Given the description of an element on the screen output the (x, y) to click on. 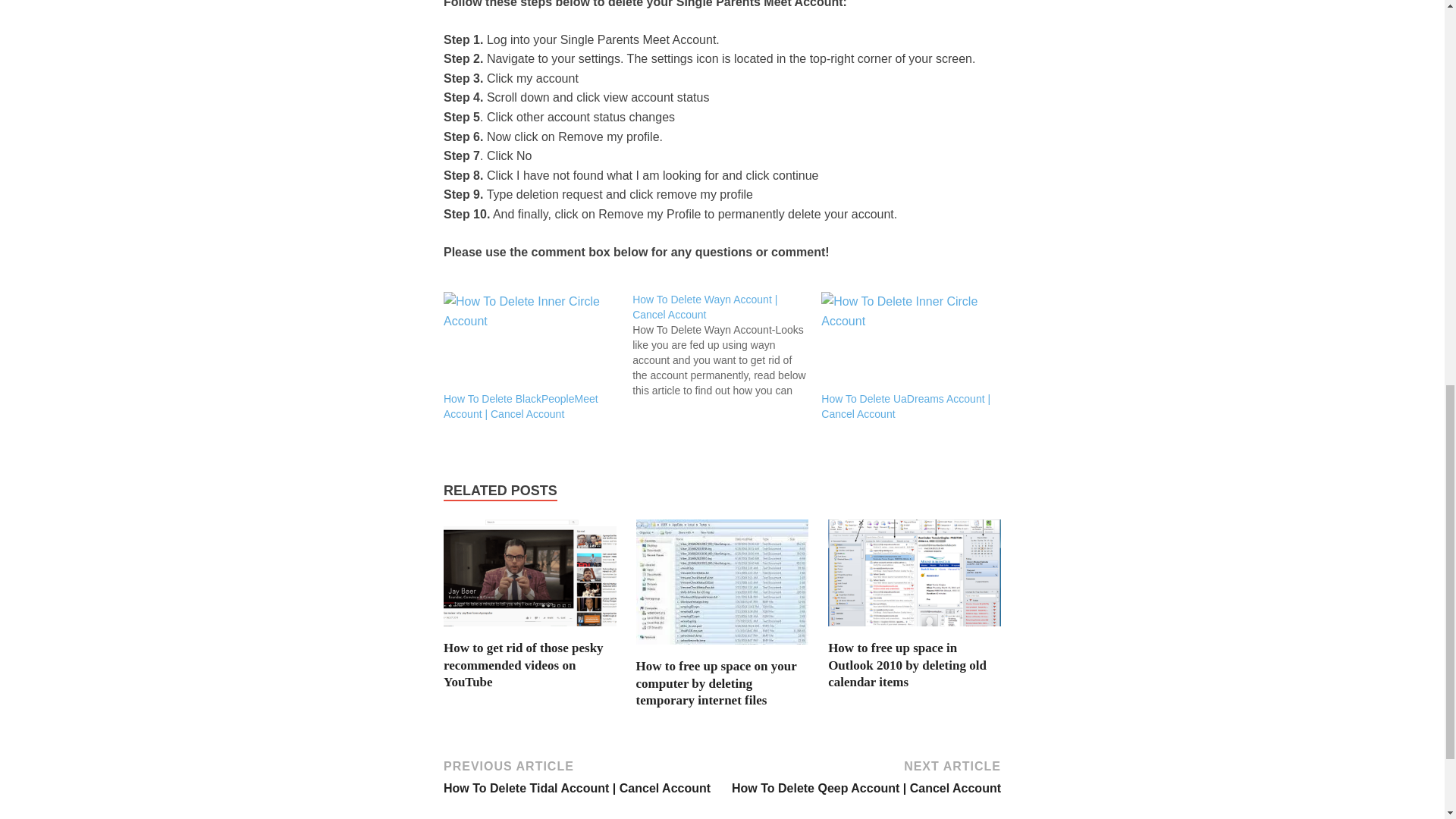
How to get rid of those pesky recommended videos on YouTube (529, 630)
How to get rid of those pesky recommended videos on YouTube (524, 664)
How to get rid of those pesky recommended videos on YouTube (524, 664)
